Given the description of an element on the screen output the (x, y) to click on. 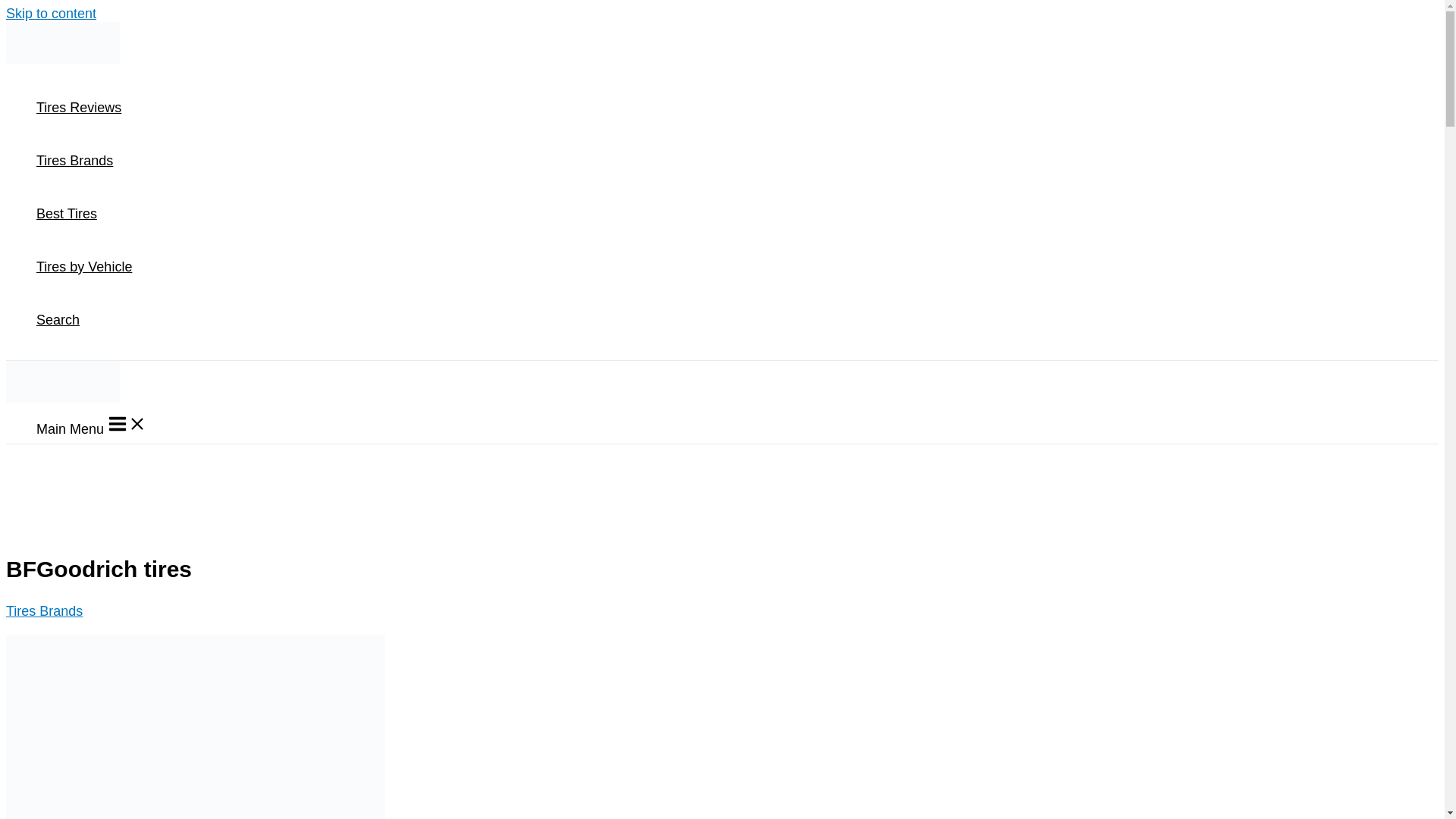
Search (84, 319)
Main Menu (91, 424)
Tires by Vehicle (84, 266)
Skip to content (50, 13)
Best Tires (84, 213)
Tires Reviews (84, 107)
Tires Brands (43, 611)
Tires Brands (84, 160)
